Given the description of an element on the screen output the (x, y) to click on. 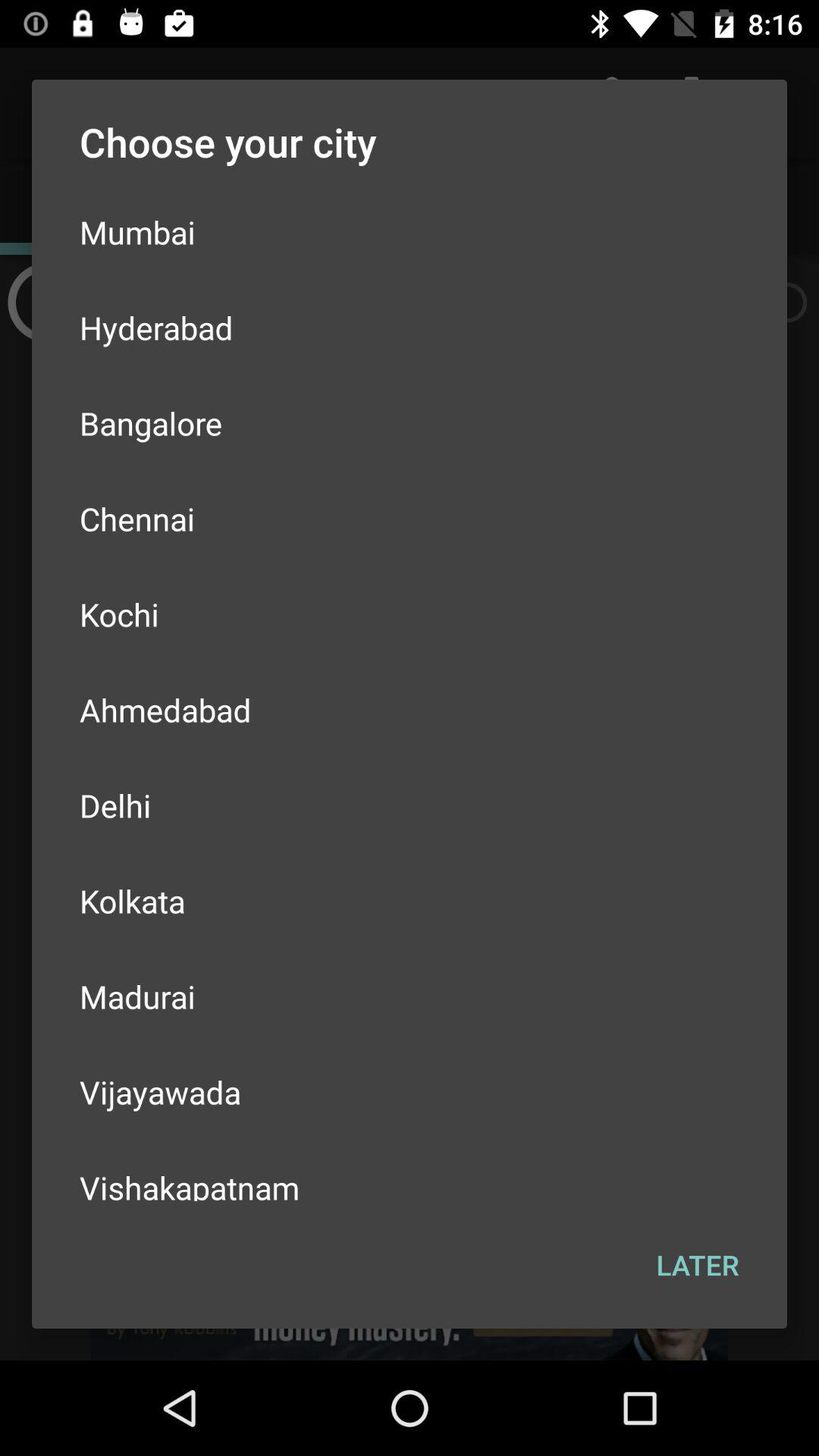
click icon at the bottom right corner (697, 1264)
